Given the description of an element on the screen output the (x, y) to click on. 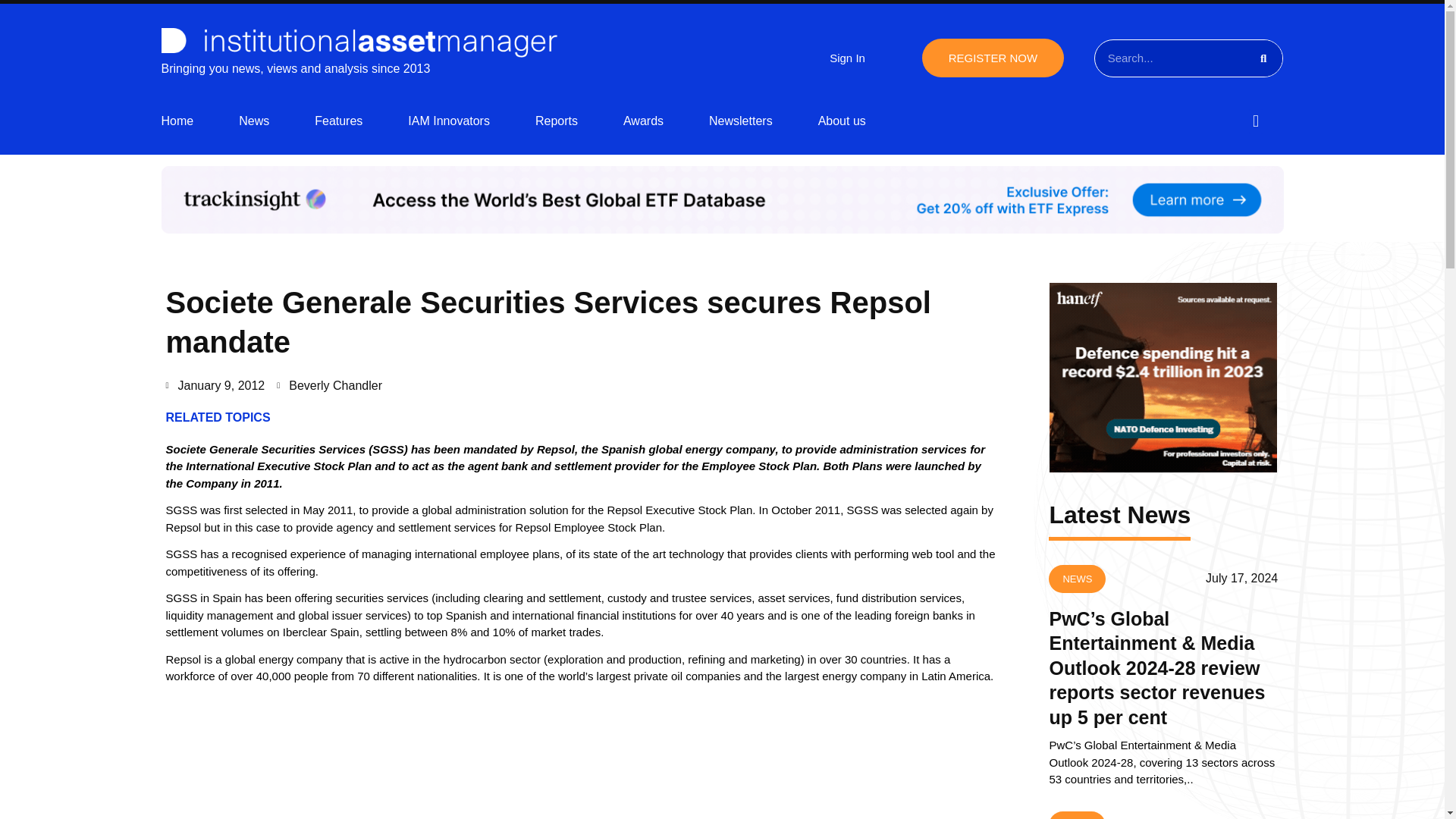
Reports (556, 121)
Home (176, 121)
REGISTER NOW (992, 57)
About us (842, 121)
Sign In (847, 57)
Newsletters (741, 121)
IAM Innovators (448, 121)
Awards (643, 121)
Features (338, 121)
